Given the description of an element on the screen output the (x, y) to click on. 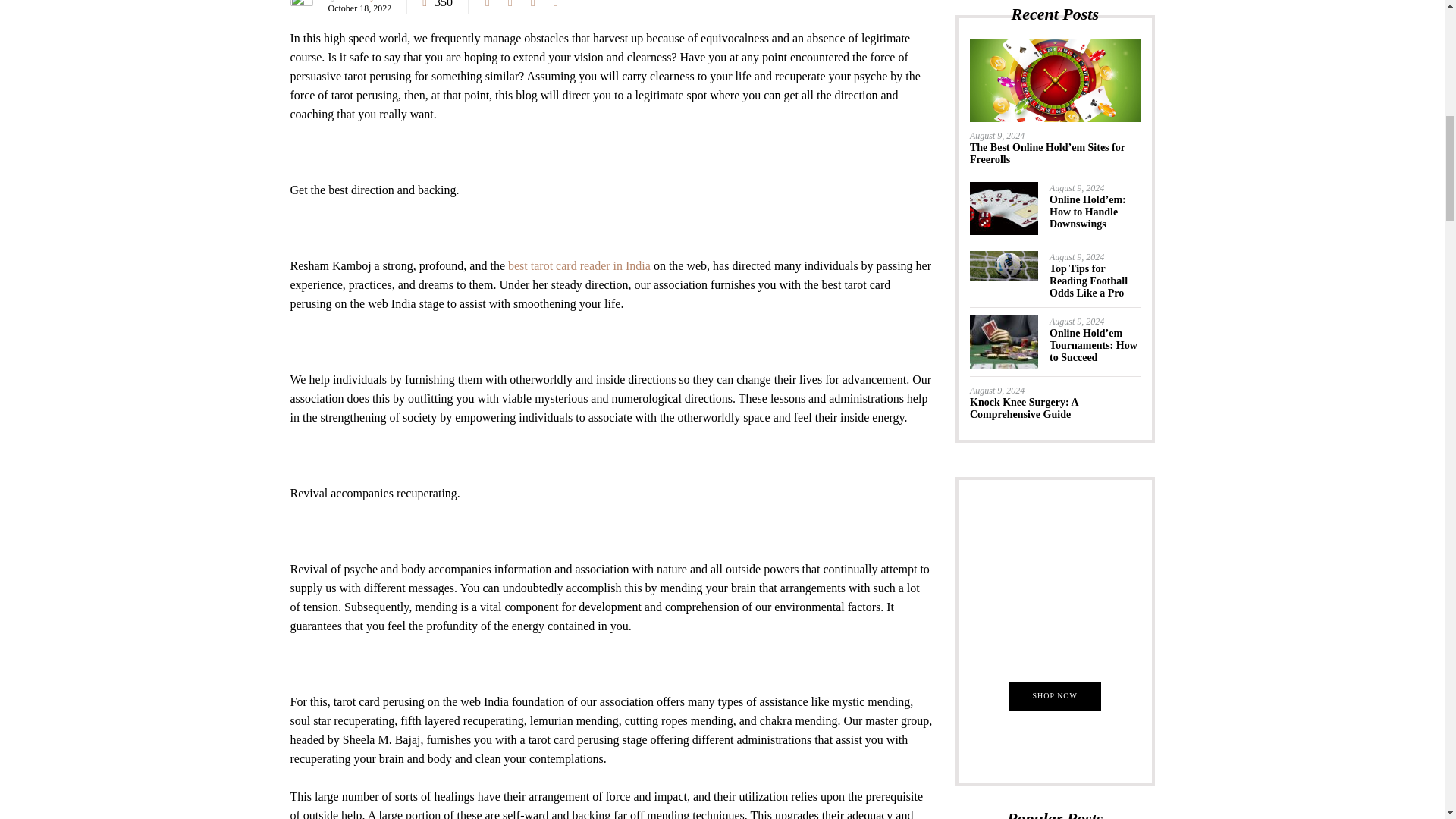
Nix Hally (357, 0)
Posts by Nix Hally (357, 0)
Tweet this (510, 6)
Share with Google Plus (532, 6)
Post views (437, 6)
Share this (487, 6)
Pin this (555, 6)
